Given the description of an element on the screen output the (x, y) to click on. 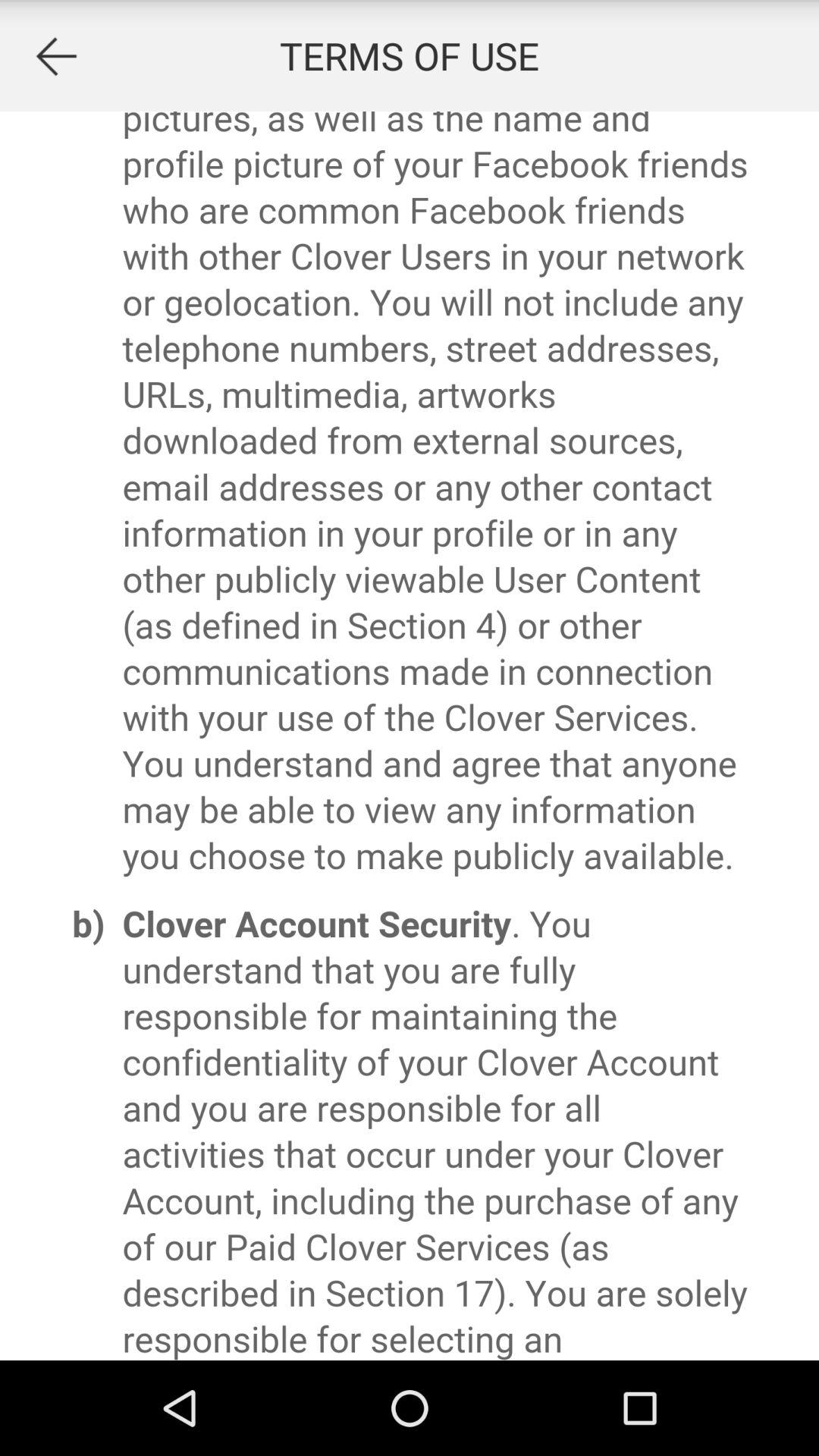
go back (55, 55)
